Given the description of an element on the screen output the (x, y) to click on. 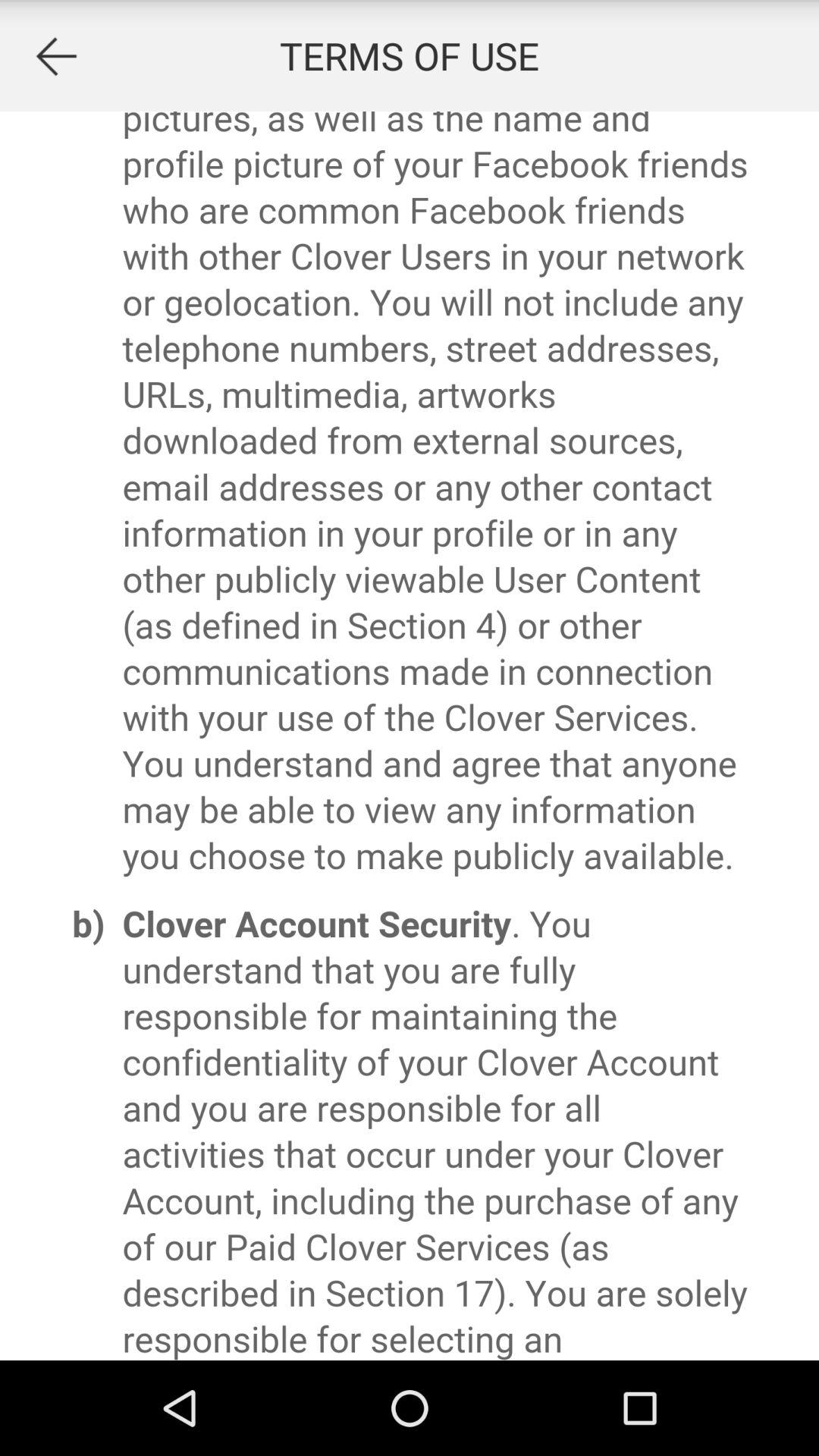
go back (55, 55)
